Given the description of an element on the screen output the (x, y) to click on. 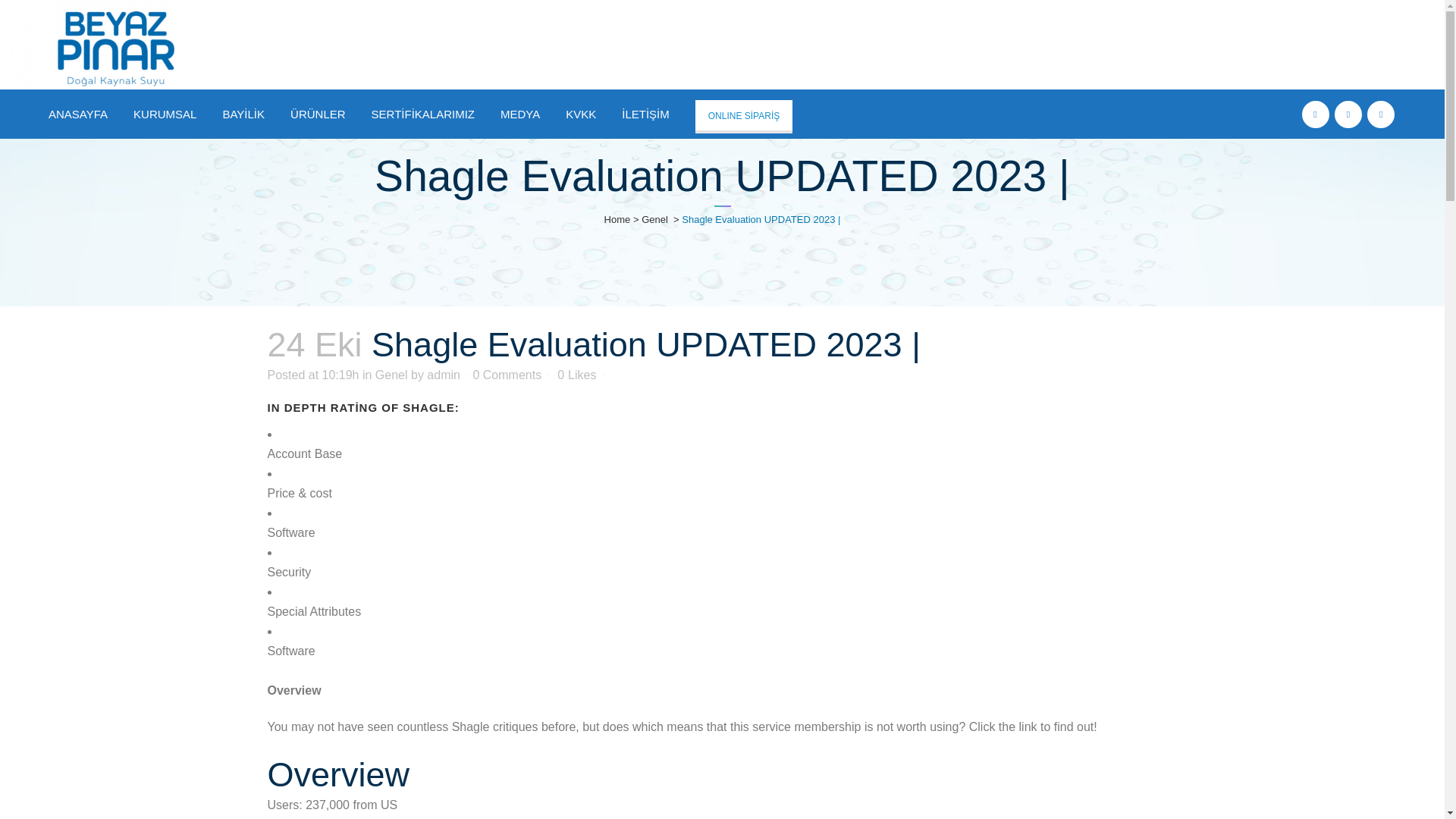
ANASAYFA (77, 113)
KVKK (580, 113)
KURUMSAL (164, 113)
Like this (576, 375)
MEDYA (520, 113)
SERTIFIKALARIMIZ (422, 113)
BAYILIK (243, 113)
